Given the description of an element on the screen output the (x, y) to click on. 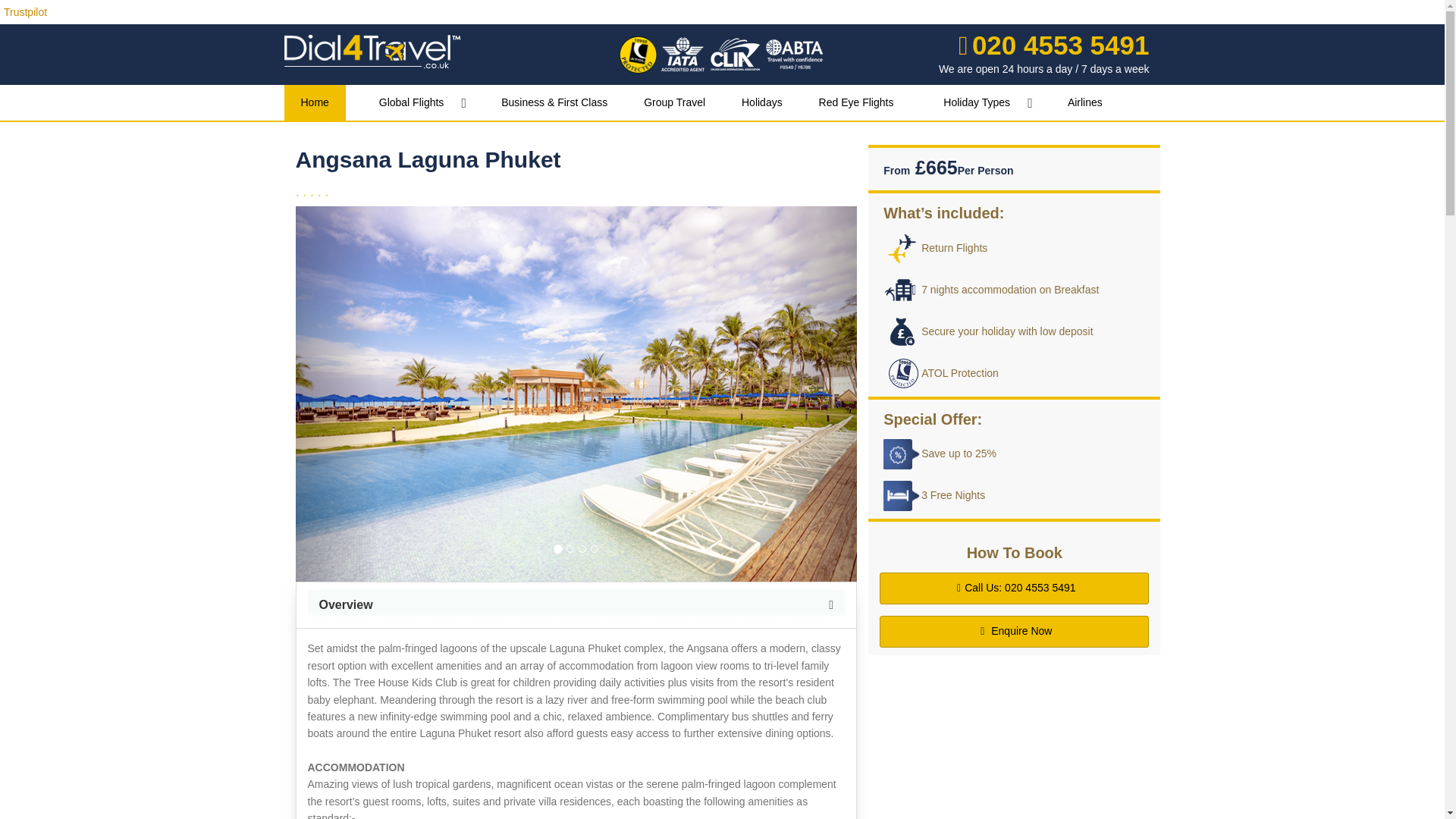
Dial4travel (374, 50)
020 4553 5491 (1053, 44)
Home (314, 102)
Group Travel (674, 102)
Trustpilot (25, 11)
Global Flights (415, 102)
